Given the description of an element on the screen output the (x, y) to click on. 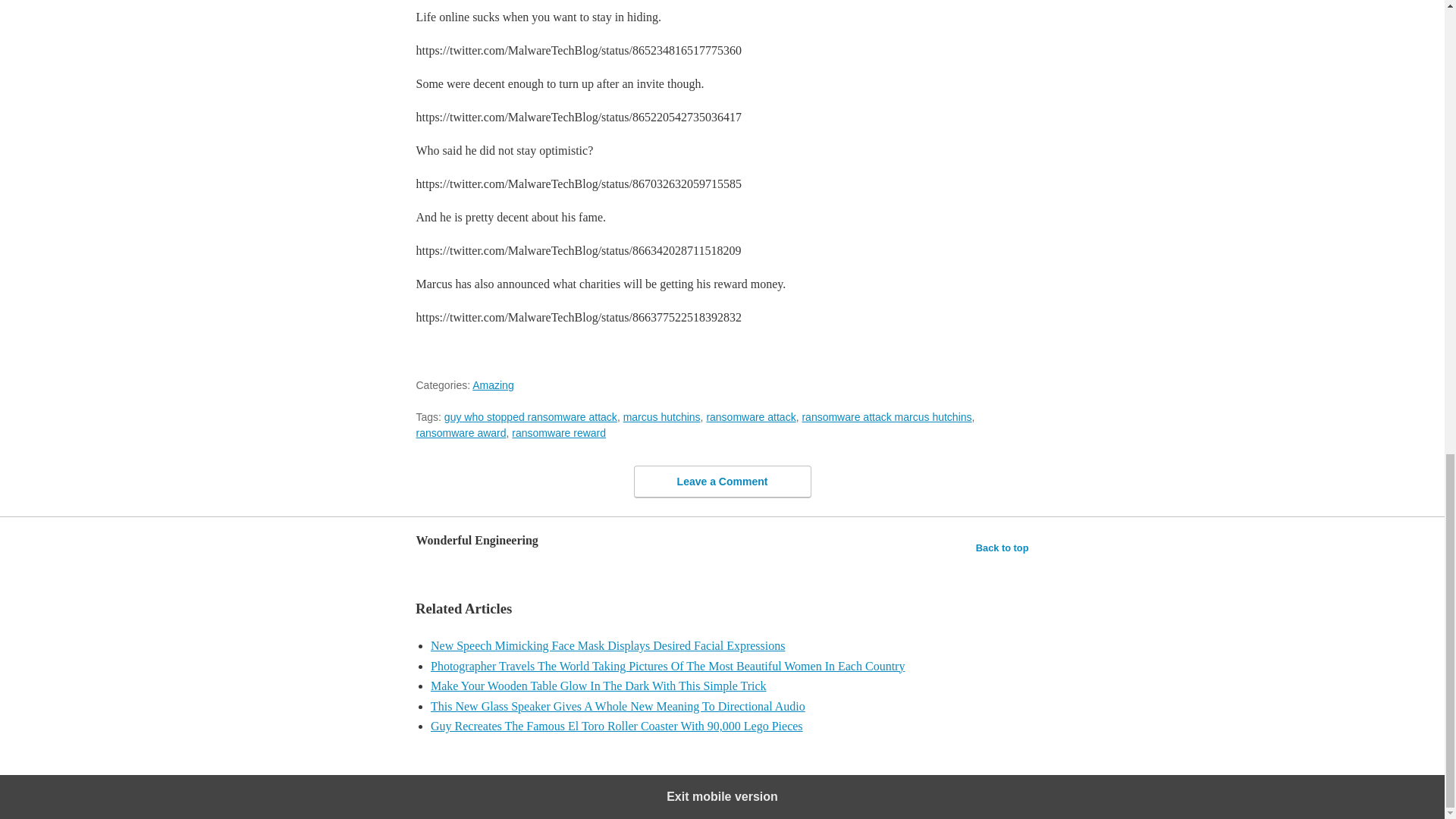
Leave a Comment (721, 481)
ransomware reward (558, 432)
ransomware award (459, 432)
ransomware attack (750, 417)
guy who stopped ransomware attack (530, 417)
Back to top (1002, 547)
ransomware attack marcus hutchins (886, 417)
Amazing (492, 385)
marcus hutchins (661, 417)
